Given the description of an element on the screen output the (x, y) to click on. 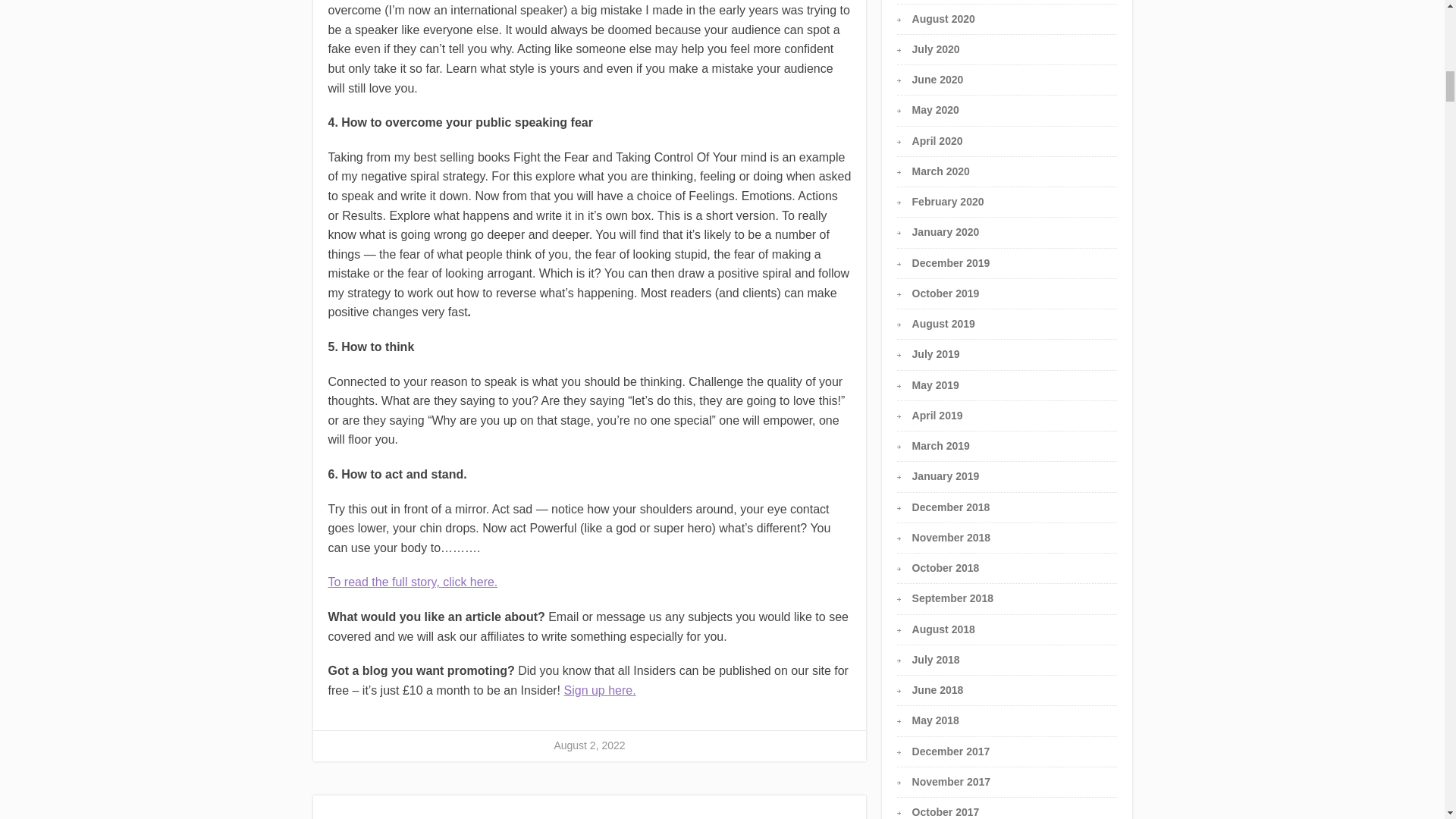
Sign up here. (600, 689)
To read the full story, click here. (412, 581)
